Given the description of an element on the screen output the (x, y) to click on. 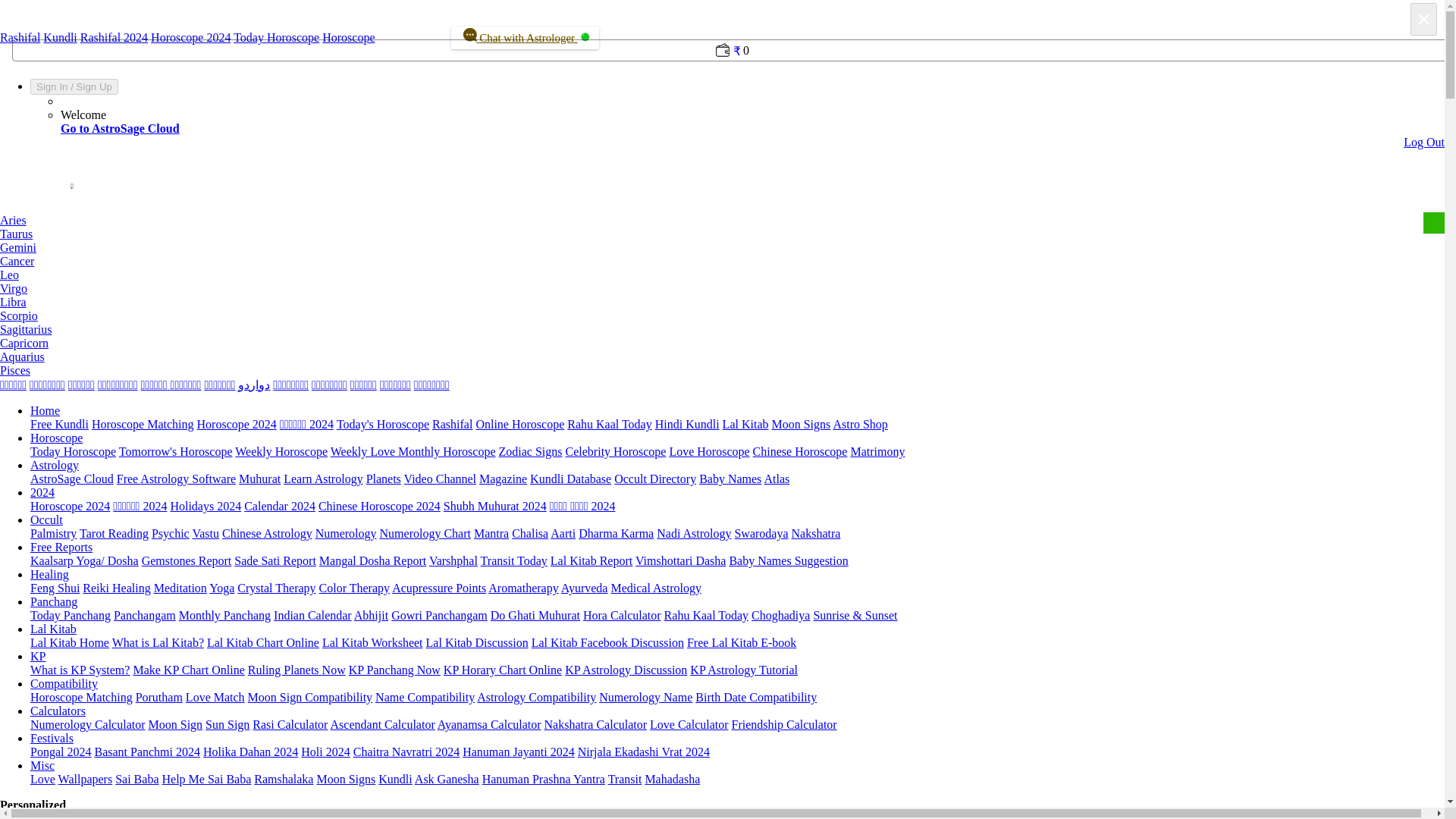
Malayalam (218, 384)
Today Horoscope (275, 37)
Chat with Astrologer (524, 37)
Sign In (52, 86)
Sign Up (94, 86)
Gemini (18, 246)
Urdu (253, 384)
Tamil (13, 384)
Wallet (722, 62)
www.AstroSage.com: Vedic Astrology (18, 20)
Marathi (154, 384)
Taurus (16, 233)
Virgo (13, 287)
Sagittarius (25, 328)
Gujarati (117, 384)
